Given the description of an element on the screen output the (x, y) to click on. 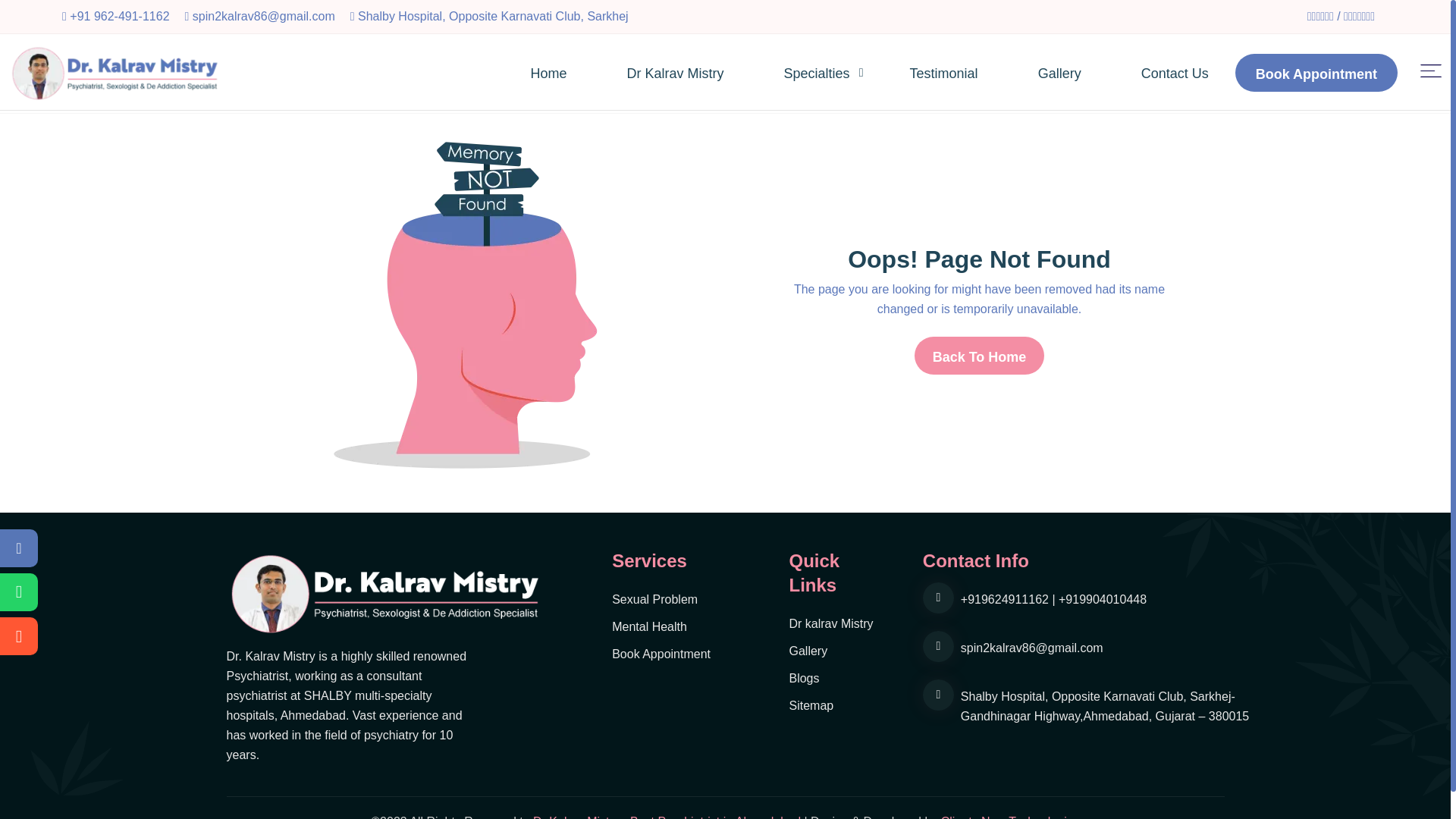
Shalby Hospital, Opposite Karnavati Club, Sarkhej (493, 15)
Specialties (842, 73)
Book Appointment (1315, 72)
Gallery (1085, 73)
Home (574, 73)
Testimonial (969, 73)
Dr Kalrav Mistry (700, 73)
Contact Us (1174, 73)
